Given the description of an element on the screen output the (x, y) to click on. 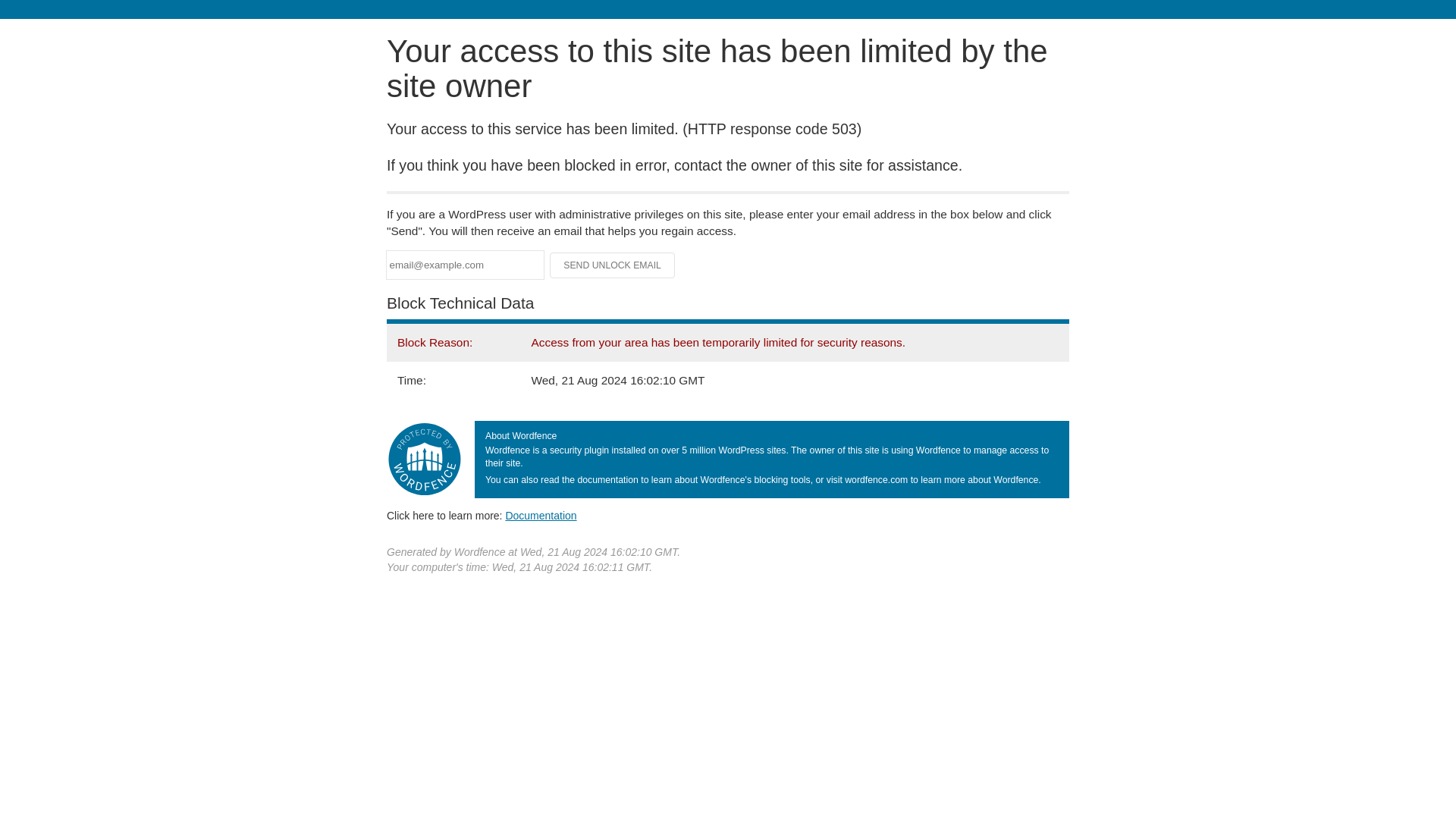
Documentation (540, 515)
Send Unlock Email (612, 265)
Send Unlock Email (612, 265)
